Given the description of an element on the screen output the (x, y) to click on. 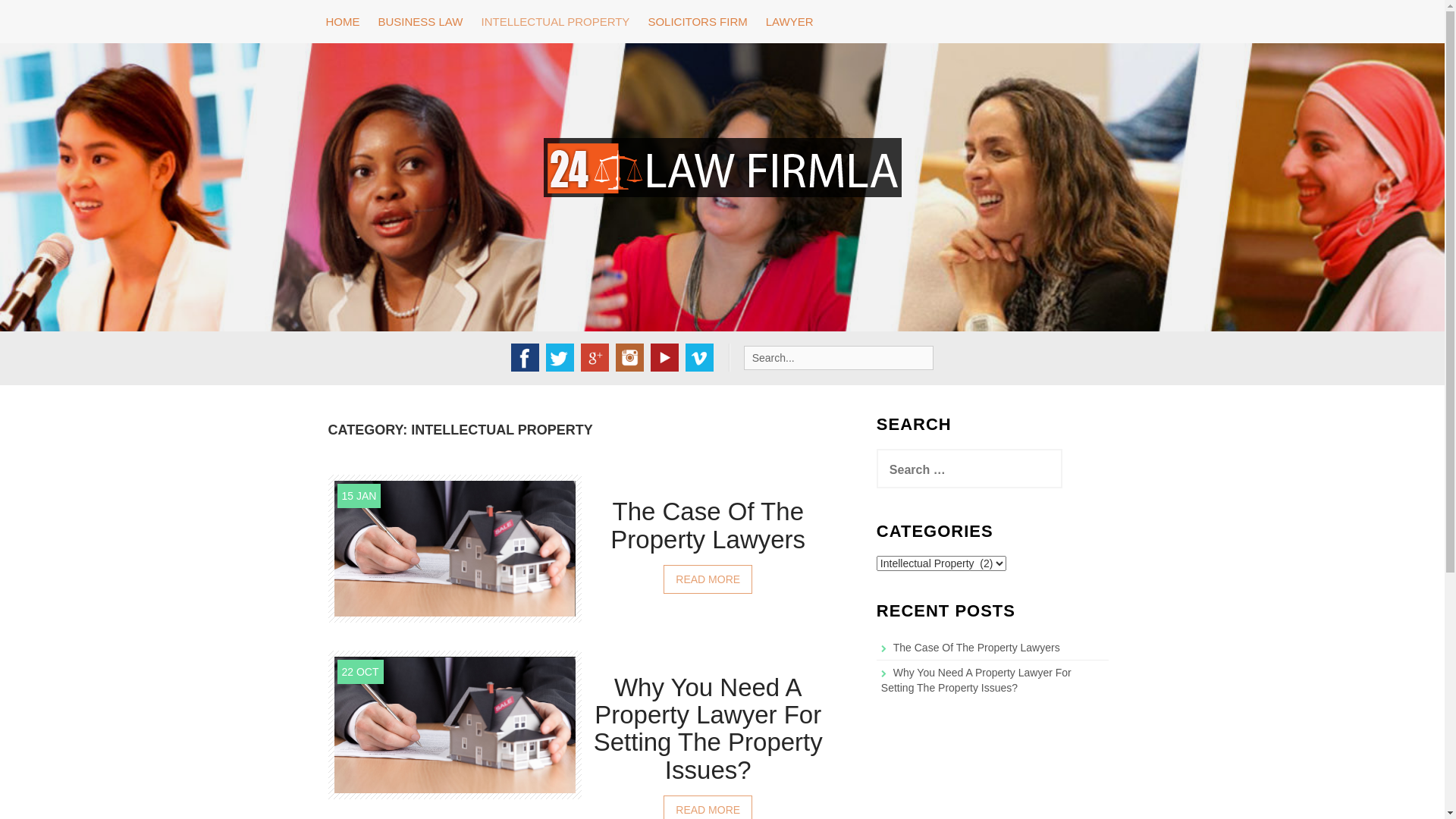
The Case Of The Property Lawyers Element type: text (707, 525)
The Case Of The Property Lawyers Element type: hover (453, 547)
Search Element type: text (24, 9)
READ MORE Element type: text (707, 578)
SOLICITORS FIRM Element type: text (697, 21)
BUSINESS LAW Element type: text (419, 21)
INTELLECTUAL PROPERTY Element type: text (554, 21)
HOME Element type: text (342, 21)
LAWYER Element type: text (789, 21)
The Case Of The Property Lawyers Element type: text (976, 647)
15 JAN Element type: text (358, 495)
22 OCT Element type: text (359, 671)
Search for: Element type: hover (838, 357)
